Given the description of an element on the screen output the (x, y) to click on. 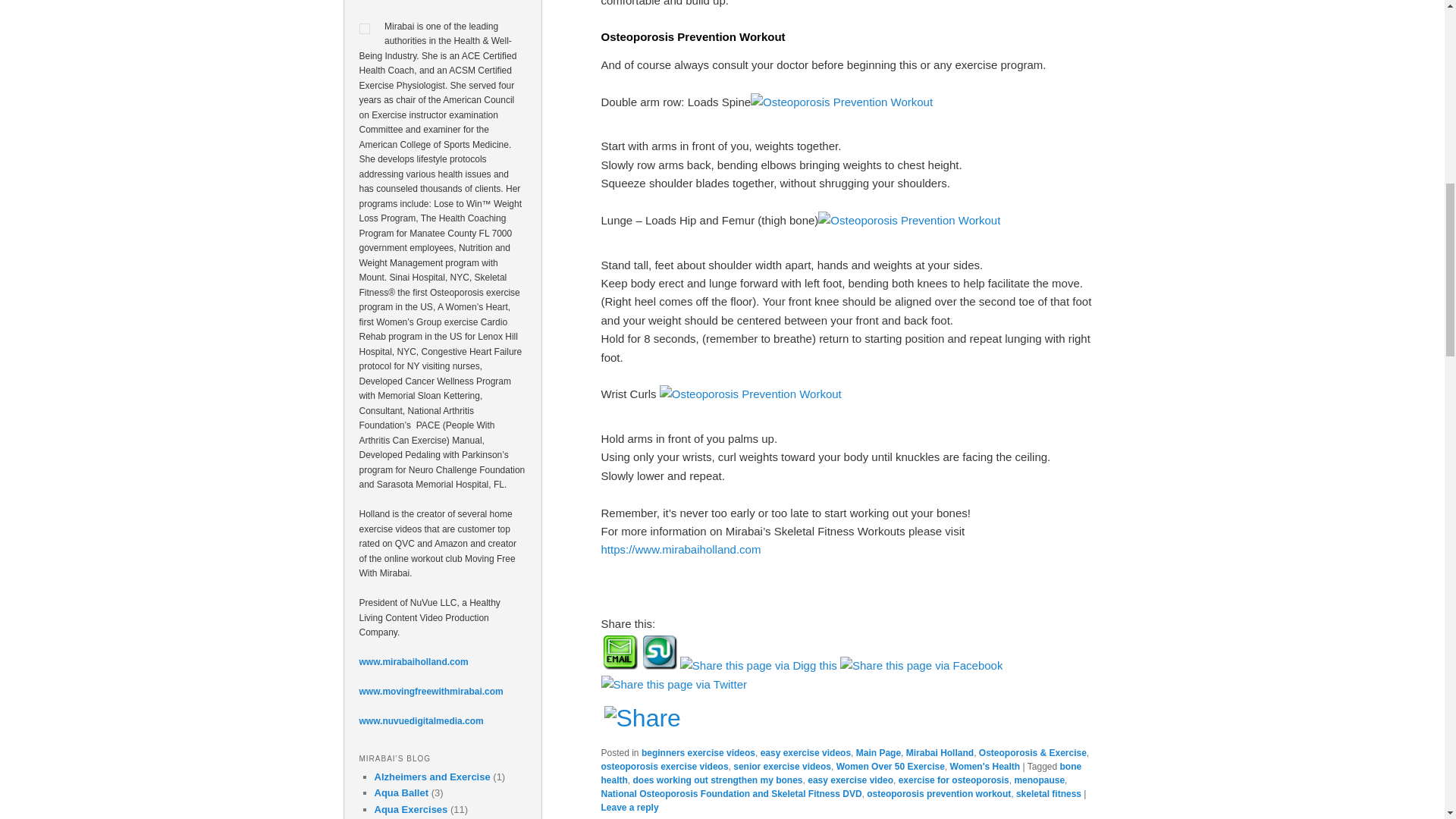
senior exercise videos (782, 766)
easy exercise video (850, 779)
easy exercise videos (805, 752)
does working out strengthen my bones (718, 779)
Mirabai Holland (939, 752)
Main Page (878, 752)
beginners exercise videos (698, 752)
Women Over 50 Exercise (889, 766)
Women's Health (985, 766)
osteoporosis exercise videos (663, 766)
